Given the description of an element on the screen output the (x, y) to click on. 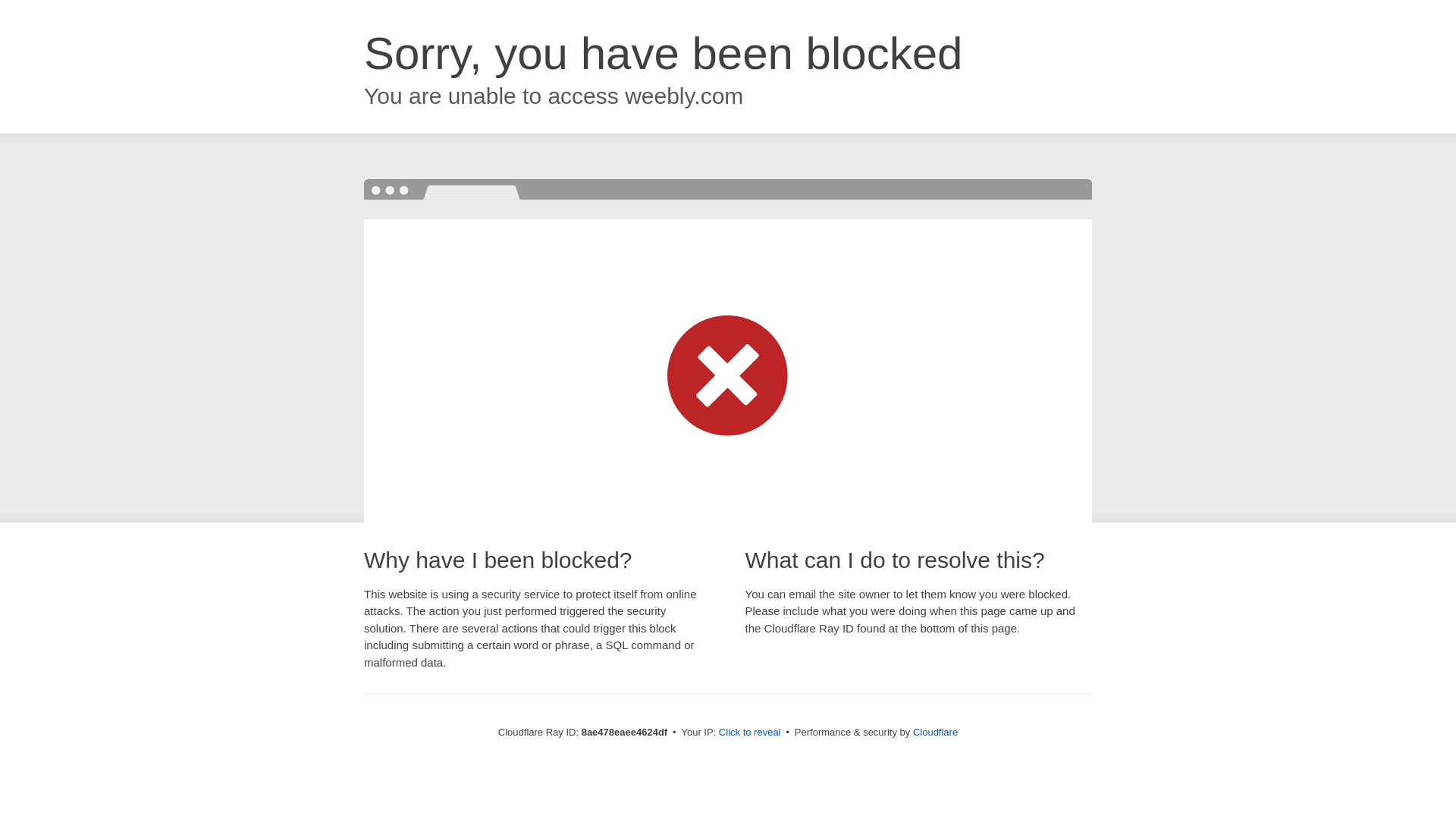
Click to reveal (749, 732)
Cloudflare (935, 731)
